Given the description of an element on the screen output the (x, y) to click on. 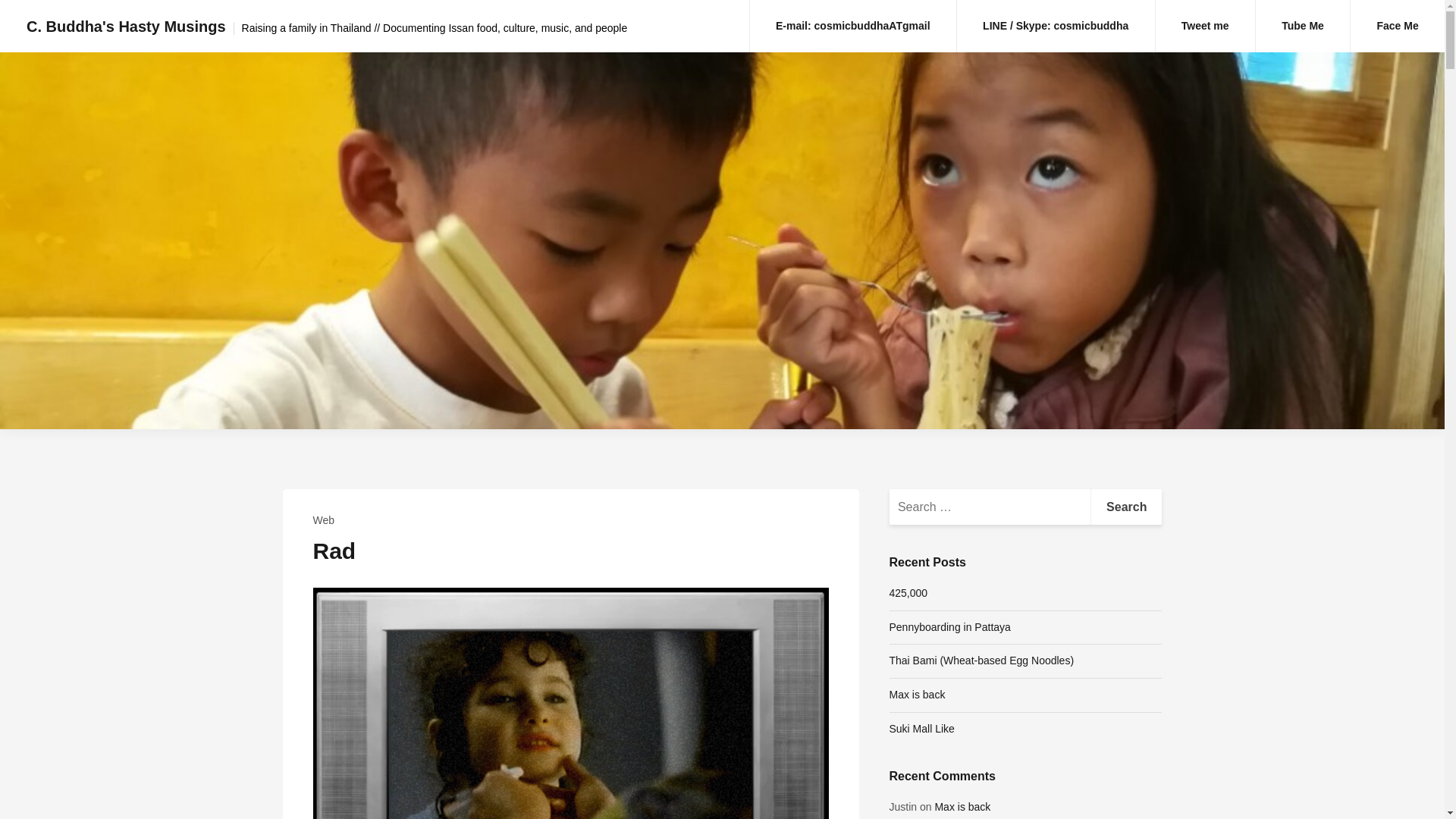
Suki Mall Like (920, 728)
Search (1125, 506)
Web (323, 520)
Search (1125, 506)
Tube Me (1302, 26)
C. Buddha's Hasty Musings (125, 26)
E-mail: cosmicbuddhaATgmail (852, 26)
Max is back (916, 694)
425,000 (907, 592)
Max is back (962, 806)
Pennyboarding in Pattaya (949, 626)
Search (1125, 506)
Tweet me (1205, 26)
